Given the description of an element on the screen output the (x, y) to click on. 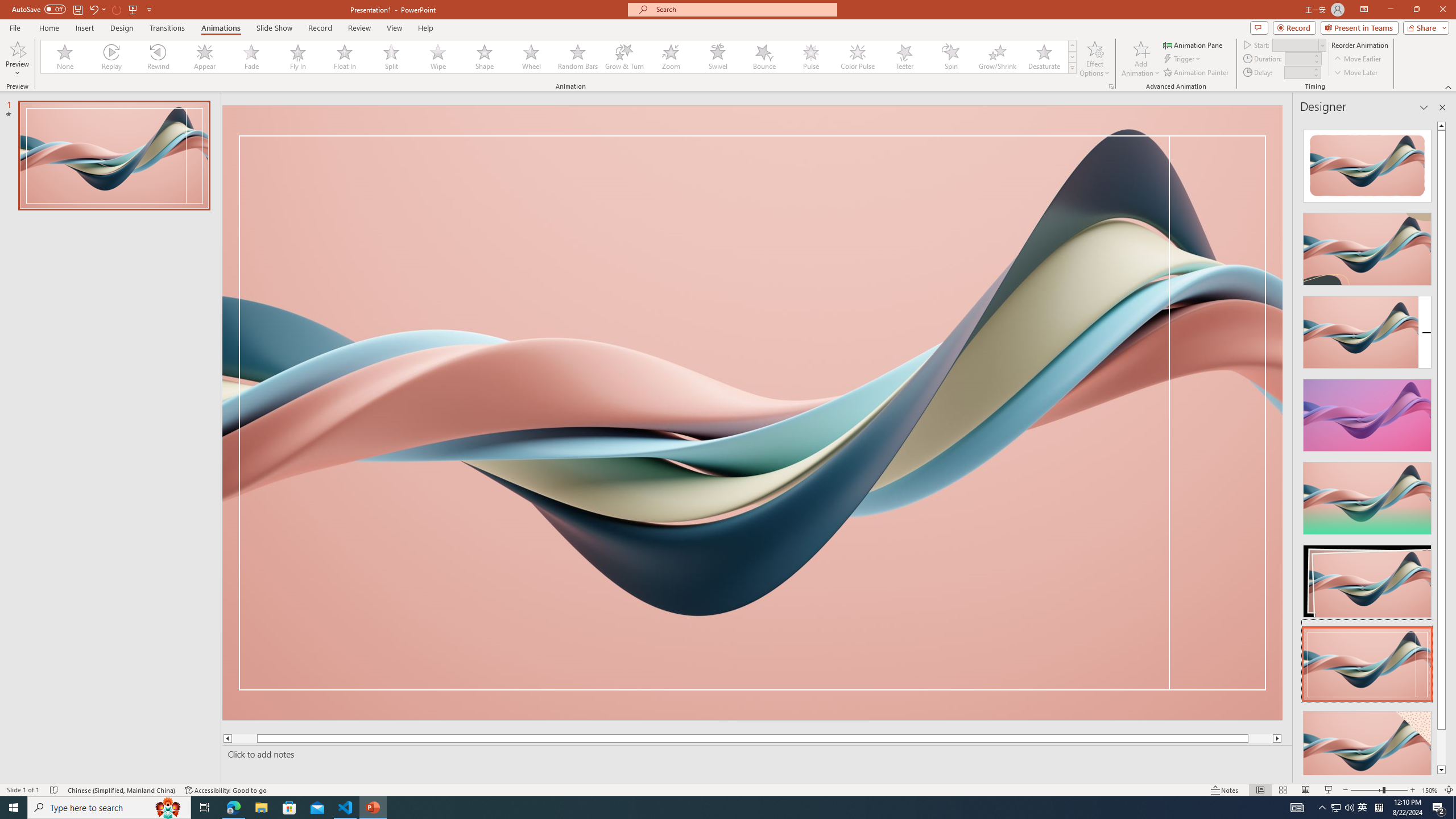
Move Later (1355, 72)
Decorative Locked (752, 412)
Teeter (903, 56)
Appear (205, 56)
Swivel (717, 56)
Float In (344, 56)
Animation Styles (1071, 67)
